Given the description of an element on the screen output the (x, y) to click on. 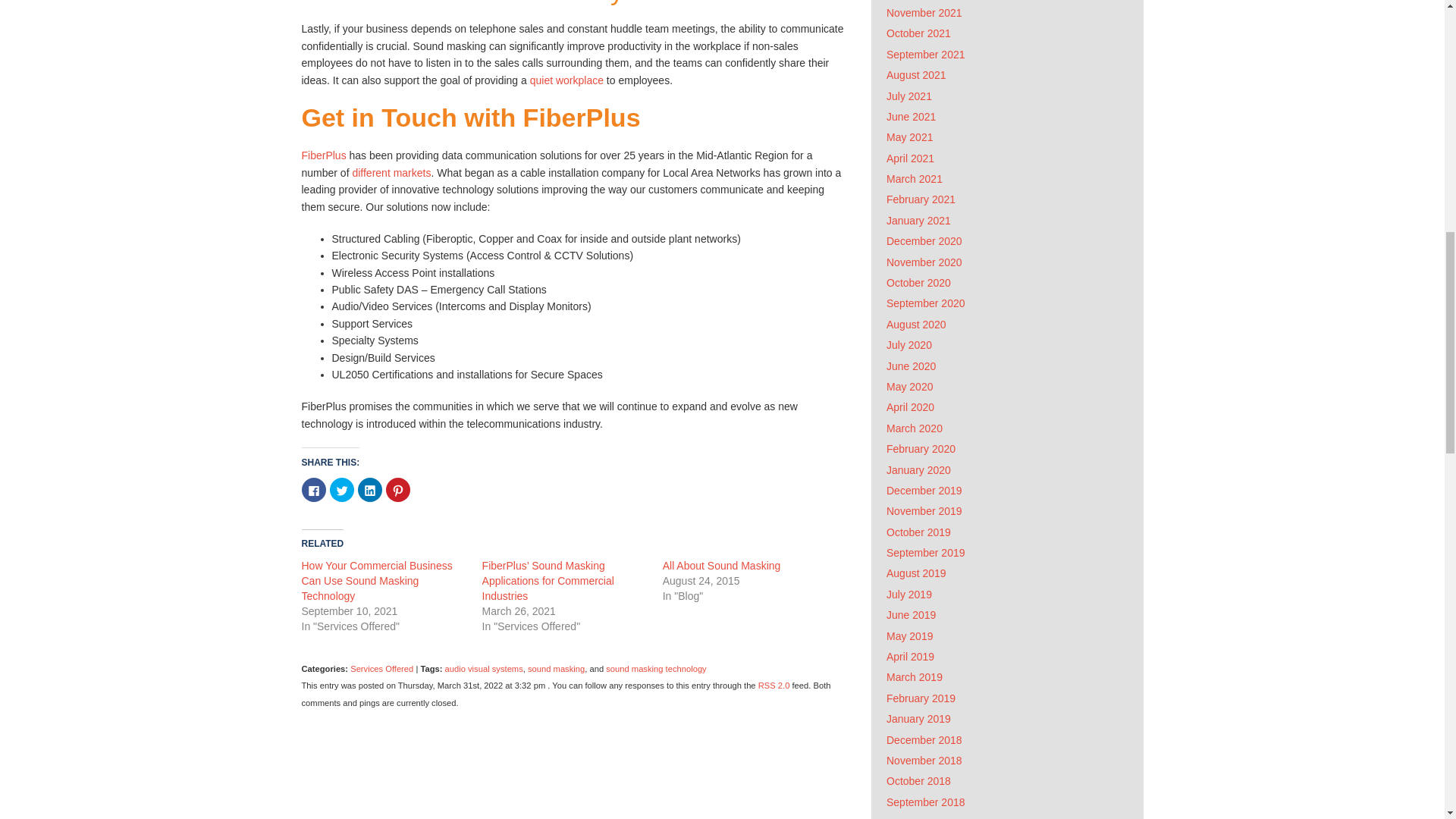
Click to share on Facebook (313, 489)
Click to share on Twitter (341, 489)
Click to share on Pinterest (397, 489)
Click to share on LinkedIn (369, 489)
